Given the description of an element on the screen output the (x, y) to click on. 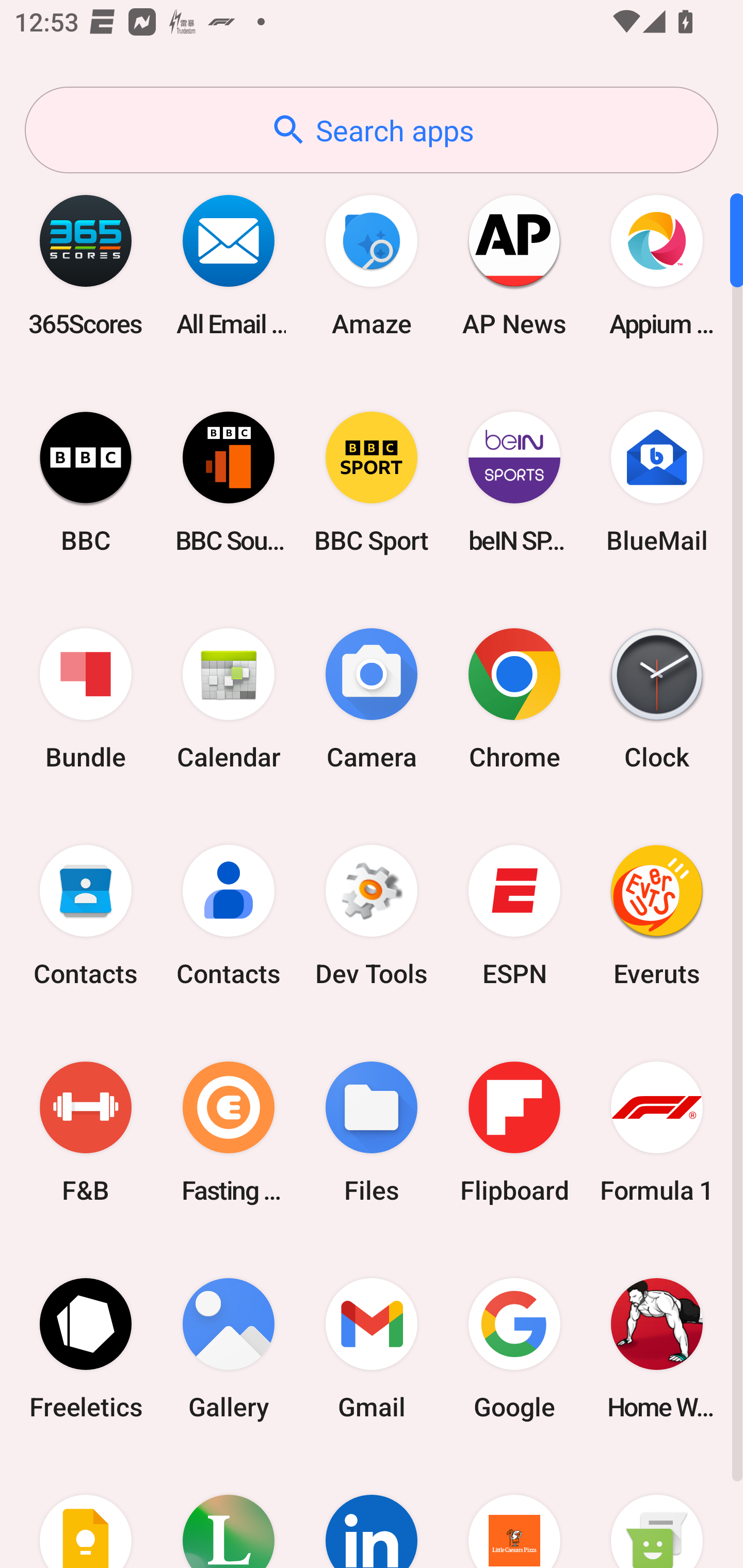
  Search apps (371, 130)
365Scores (85, 264)
All Email Connect (228, 264)
Amaze (371, 264)
AP News (514, 264)
Appium Settings (656, 264)
BBC (85, 482)
BBC Sounds (228, 482)
BBC Sport (371, 482)
beIN SPORTS (514, 482)
BlueMail (656, 482)
Bundle (85, 699)
Calendar (228, 699)
Camera (371, 699)
Chrome (514, 699)
Clock (656, 699)
Contacts (85, 915)
Contacts (228, 915)
Dev Tools (371, 915)
ESPN (514, 915)
Everuts (656, 915)
F&B (85, 1131)
Fasting Coach (228, 1131)
Files (371, 1131)
Flipboard (514, 1131)
Formula 1 (656, 1131)
Freeletics (85, 1348)
Gallery (228, 1348)
Gmail (371, 1348)
Google (514, 1348)
Home Workout (656, 1348)
